Given the description of an element on the screen output the (x, y) to click on. 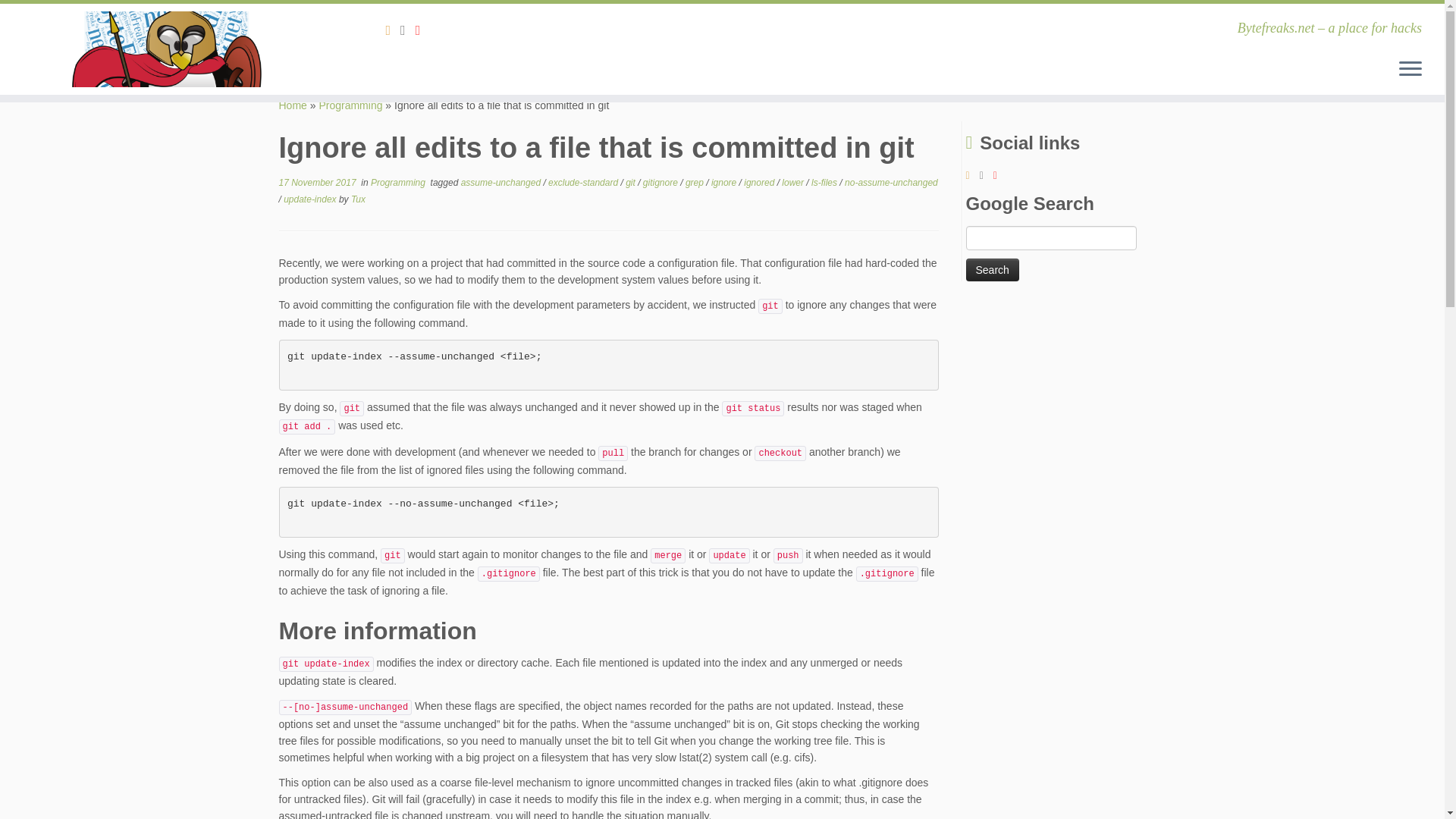
See our creations on Google Play (407, 29)
View all posts in git (631, 182)
Search (992, 269)
Open the menu (1410, 69)
View all posts in gitignore (661, 182)
Subscribe to my rss feed (392, 29)
View all posts in exclude-standard (584, 182)
Bytefreaks.net (293, 105)
View all posts in grep (695, 182)
Check out our amazing creations at YouTube (422, 29)
View all posts in ignore (725, 182)
View all posts in ignored (760, 182)
View all posts in assume-unchanged (502, 182)
View all posts in Programming (399, 182)
7:15 pm (317, 182)
